Given the description of an element on the screen output the (x, y) to click on. 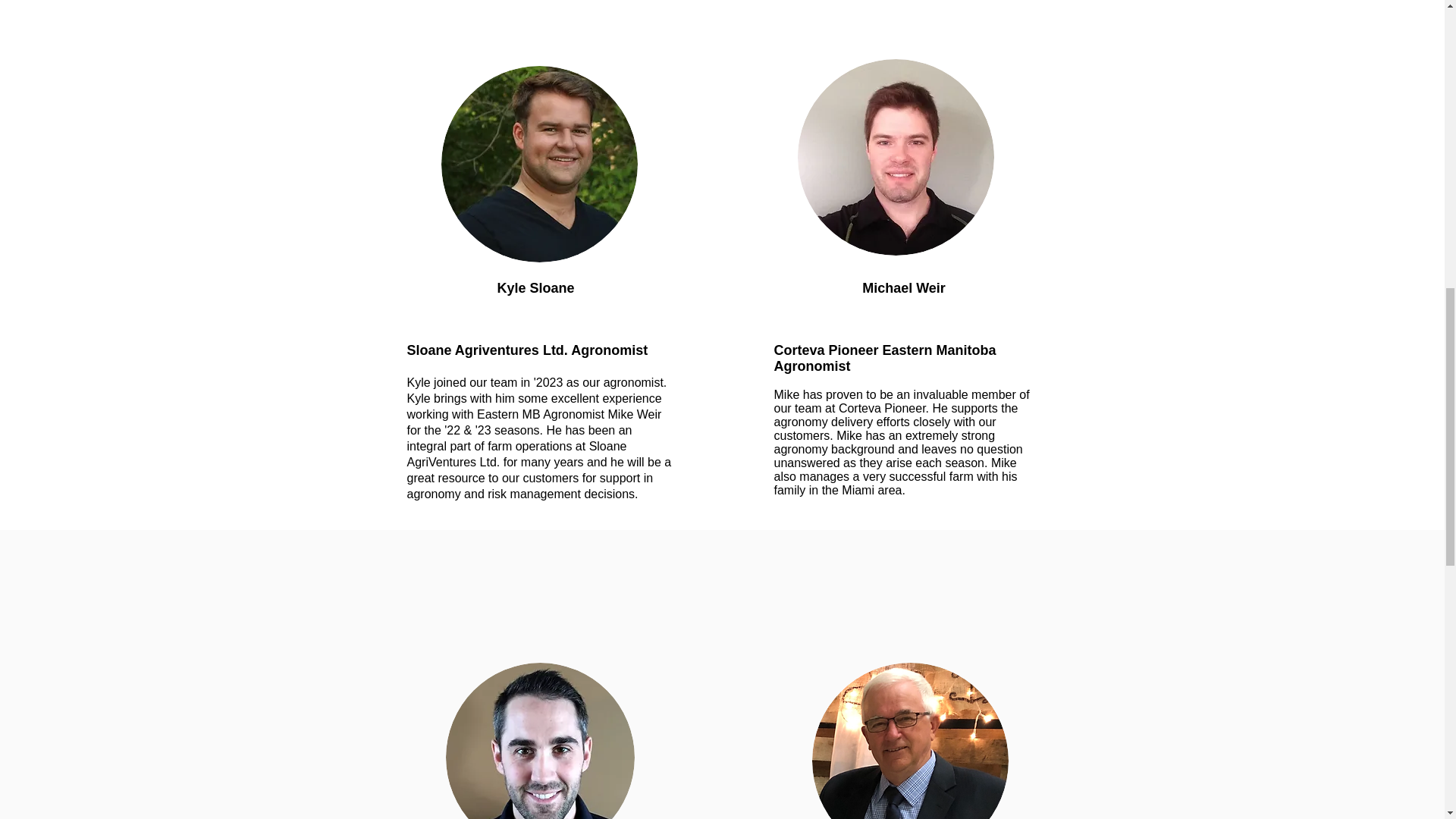
guy2.jpg (539, 164)
guy2.jpg (539, 740)
Mike Weir (895, 156)
Tom Sloane (908, 740)
